Given the description of an element on the screen output the (x, y) to click on. 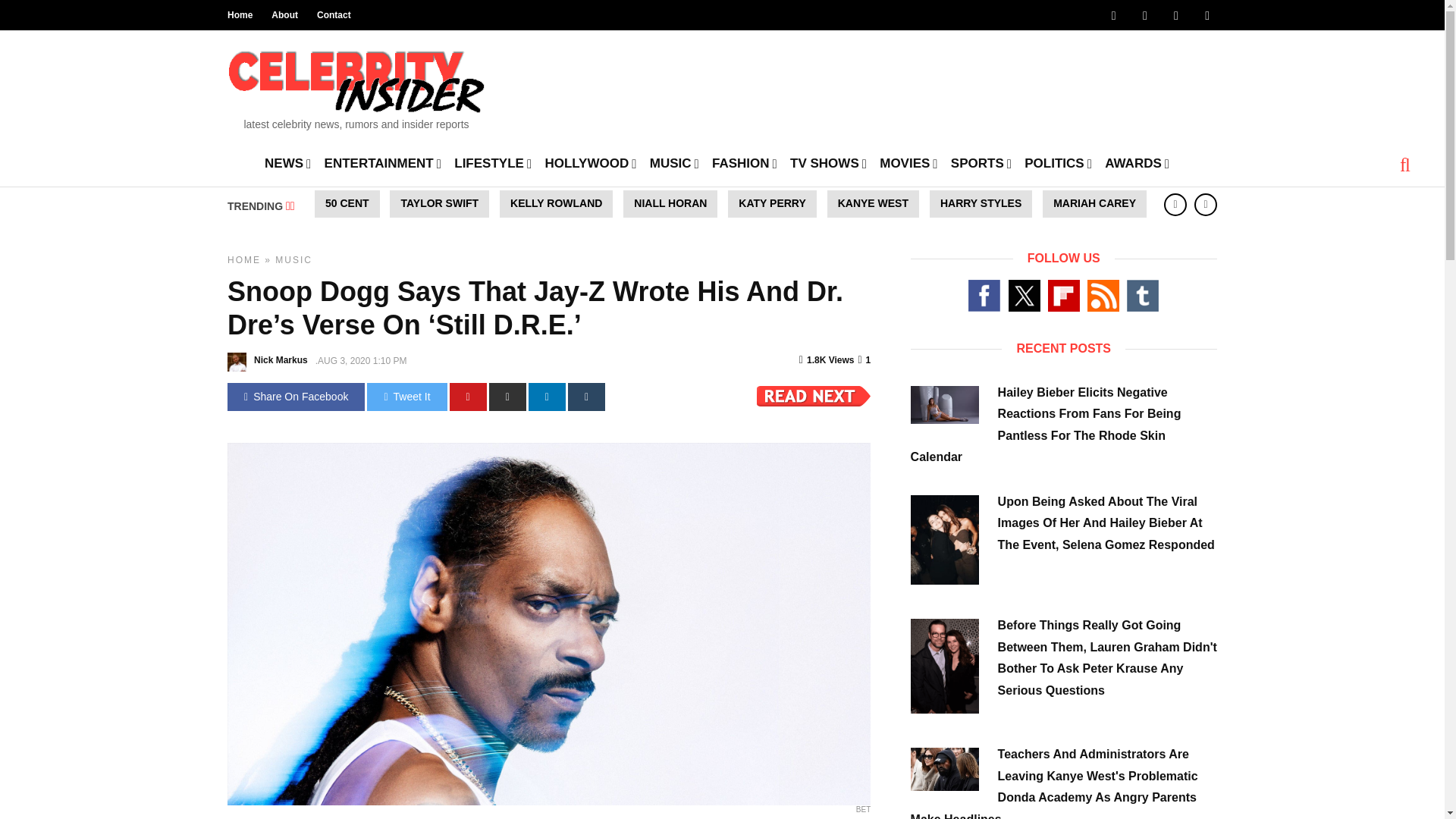
Share On Facebook (296, 397)
TV SHOWS (828, 162)
50 CENT (347, 203)
Share On Pinterest (467, 397)
TAYLOR SWIFT (439, 203)
KATY PERRY (771, 203)
HOLLYWOOD (590, 162)
POLITICS (1058, 162)
KELLY ROWLAND (555, 203)
Share On Twitter (406, 397)
ENTERTAINMENT (382, 162)
Share On Tumblr (586, 397)
FASHION (744, 162)
LIFESTYLE (492, 162)
MOVIES (908, 162)
